Given the description of an element on the screen output the (x, y) to click on. 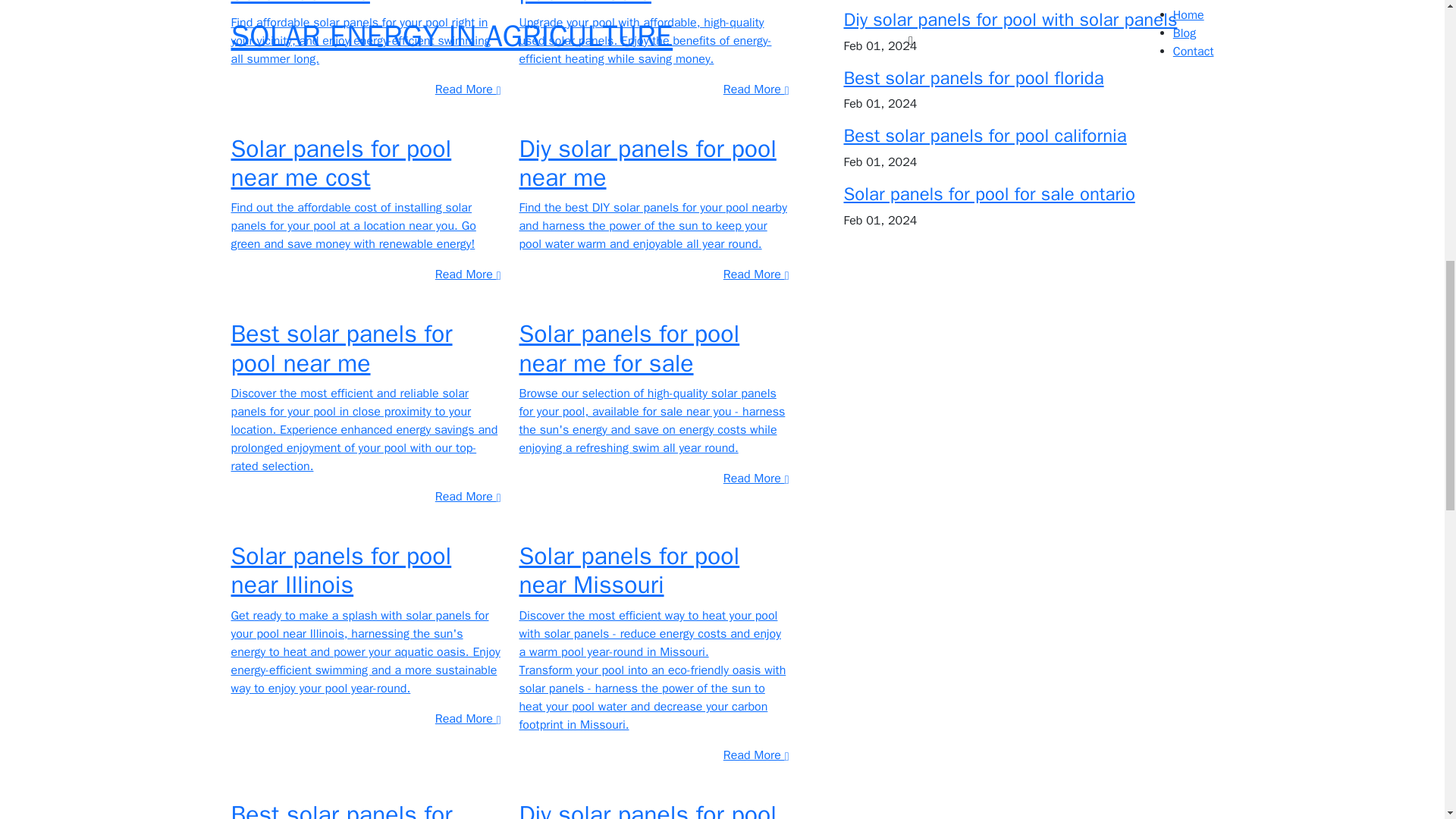
Diy solar panels for pool near me (647, 163)
Solar panels for pool for sale near me (358, 3)
Used solar panels for pool for sale (631, 3)
Solar panels for pool near me for sale (628, 348)
Read More (467, 89)
